Given the description of an element on the screen output the (x, y) to click on. 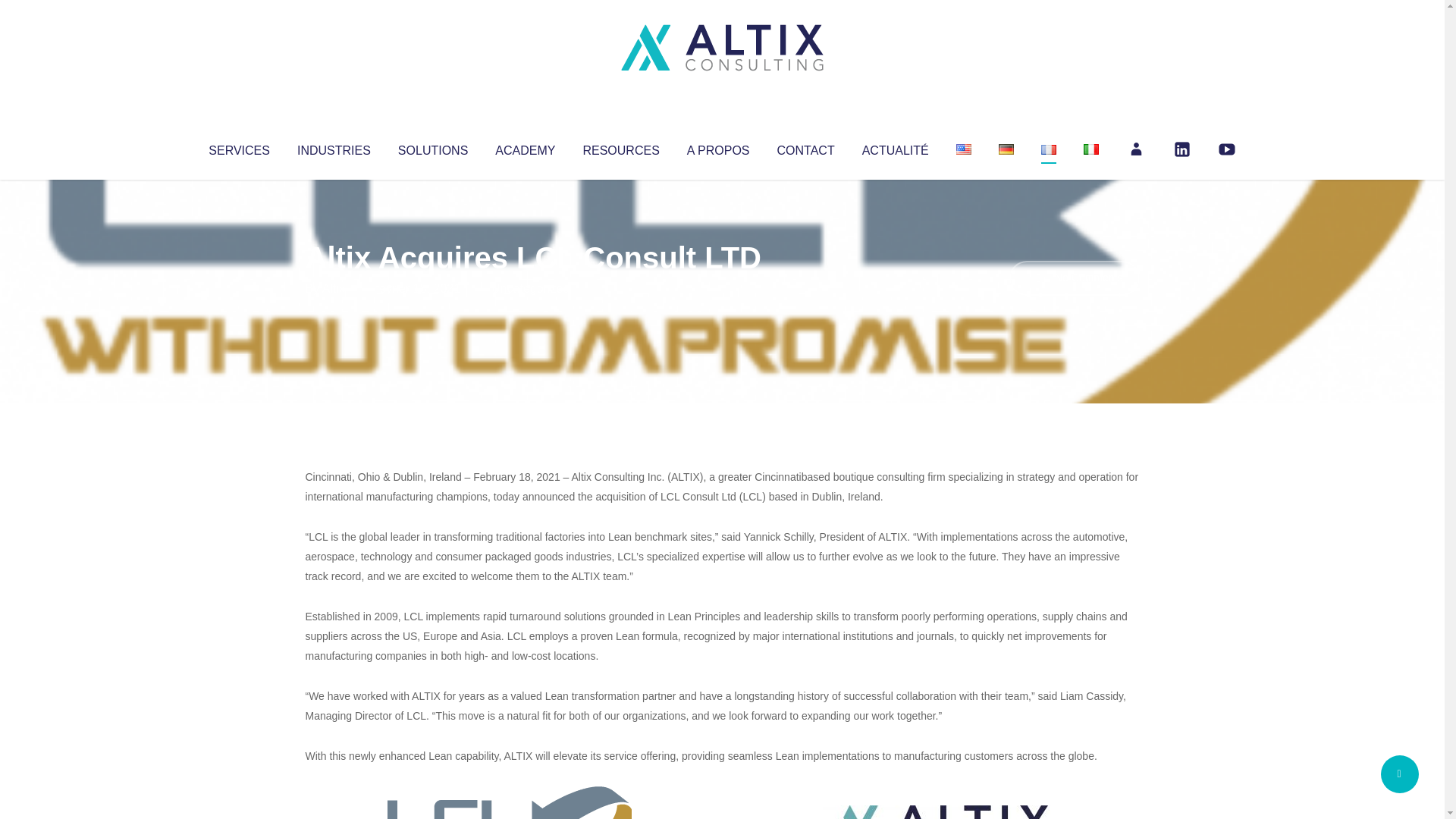
SOLUTIONS (432, 146)
ACADEMY (524, 146)
Uncategorized (530, 287)
No Comments (1073, 278)
RESOURCES (620, 146)
A PROPOS (718, 146)
Articles par Altix (333, 287)
SERVICES (238, 146)
INDUSTRIES (334, 146)
Altix (333, 287)
